Given the description of an element on the screen output the (x, y) to click on. 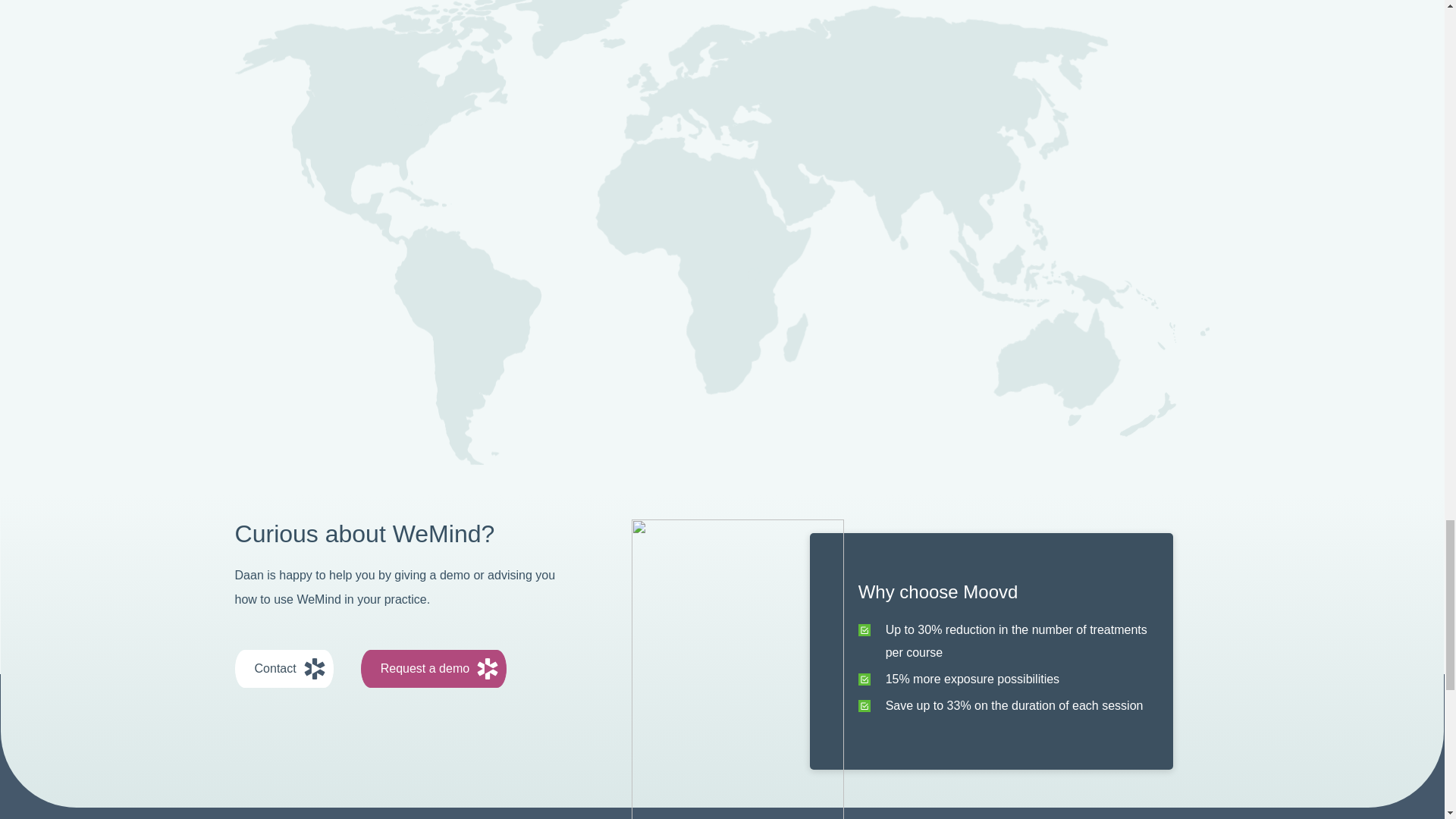
Contact (283, 668)
Request a demo (433, 668)
